Given the description of an element on the screen output the (x, y) to click on. 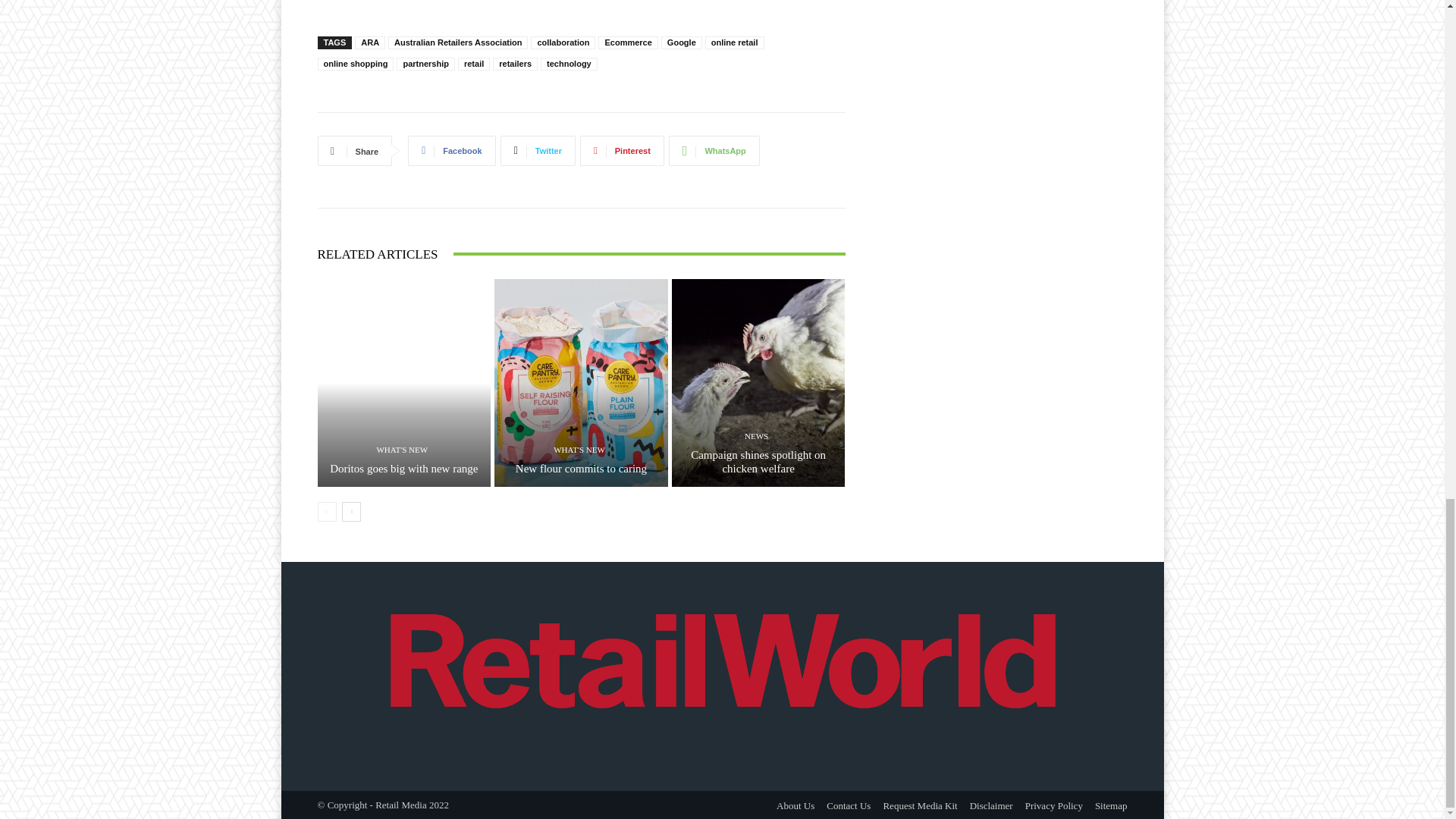
Facebook (451, 150)
Twitter (537, 150)
